Given the description of an element on the screen output the (x, y) to click on. 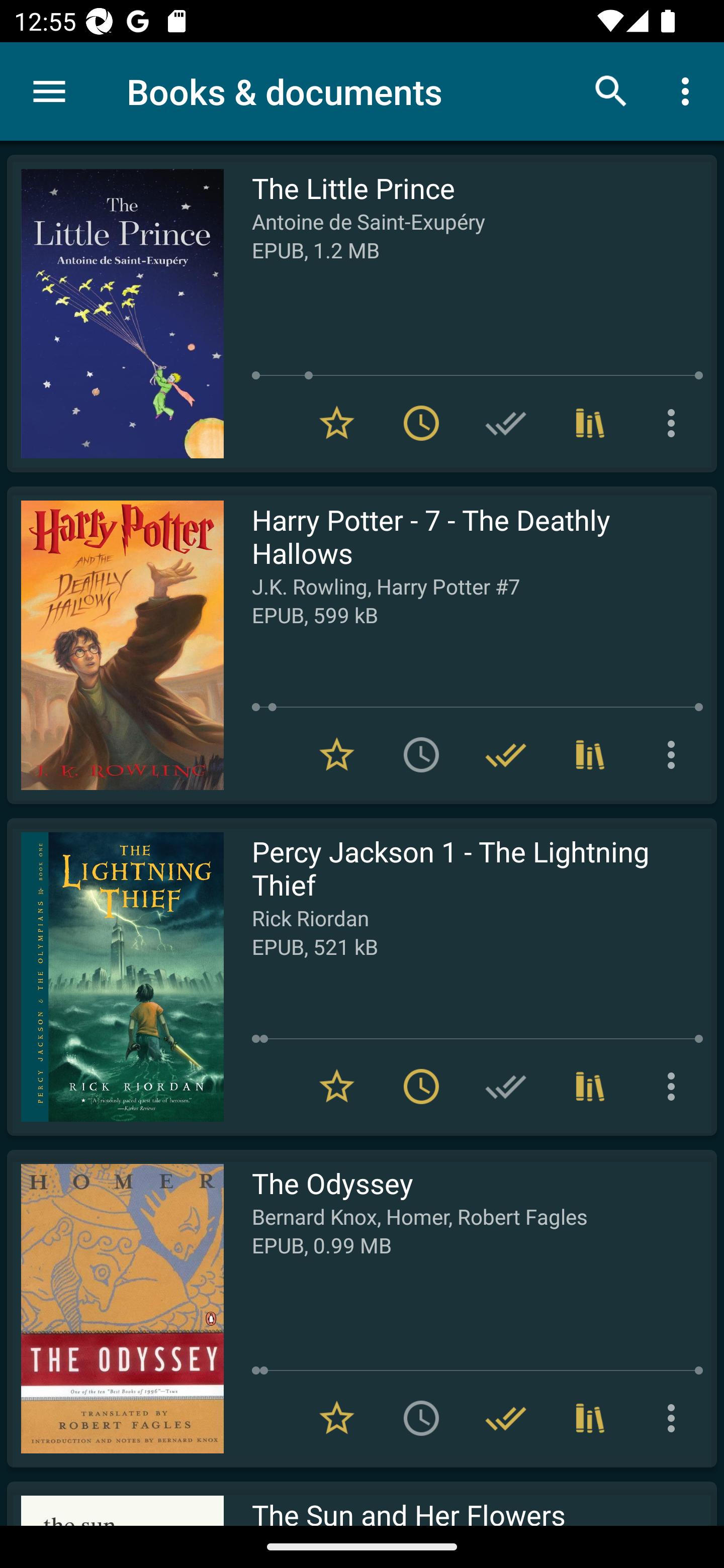
Menu (49, 91)
Search books & documents (611, 90)
More options (688, 90)
Read The Little Prince (115, 313)
Remove from Favorites (336, 423)
Remove from To read (421, 423)
Add to Have read (505, 423)
Collections (1) (590, 423)
More options (674, 423)
Read Harry Potter - 7 - The Deathly Hallows (115, 645)
Remove from Favorites (336, 753)
Add to To read (421, 753)
Remove from Have read (505, 753)
Collections (3) (590, 753)
More options (674, 753)
Read Percy Jackson 1 - The Lightning Thief (115, 976)
Remove from Favorites (336, 1086)
Remove from To read (421, 1086)
Add to Have read (505, 1086)
Collections (1) (590, 1086)
More options (674, 1086)
Read The Odyssey (115, 1308)
Remove from Favorites (336, 1417)
Add to To read (421, 1417)
Remove from Have read (505, 1417)
Collections (2) (590, 1417)
More options (674, 1417)
